Given the description of an element on the screen output the (x, y) to click on. 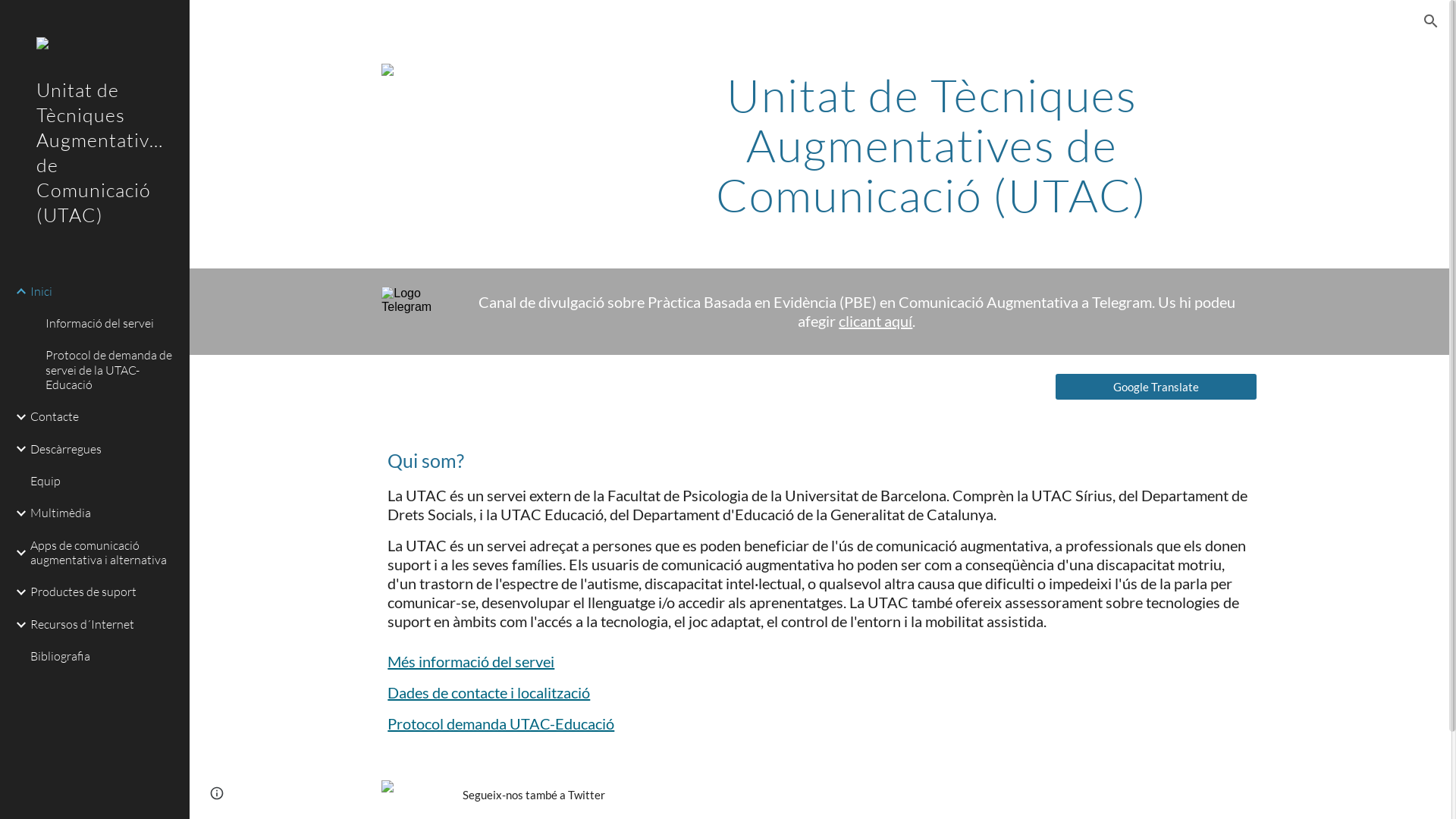
Google Translate Element type: text (1155, 386)
Inici Element type: text (103, 291)
Bibliografia Element type: text (103, 656)
Expand/Collapse Element type: hover (16, 416)
Equip Element type: text (103, 481)
Productes de suport Element type: text (103, 592)
Expand/Collapse Element type: hover (16, 624)
Expand/Collapse Element type: hover (16, 448)
Contacte Element type: text (103, 417)
Expand/Collapse Element type: hover (16, 513)
Expand/Collapse Element type: hover (16, 592)
Expand/Collapse Element type: hover (16, 552)
Expand/Collapse Element type: hover (16, 291)
